Given the description of an element on the screen output the (x, y) to click on. 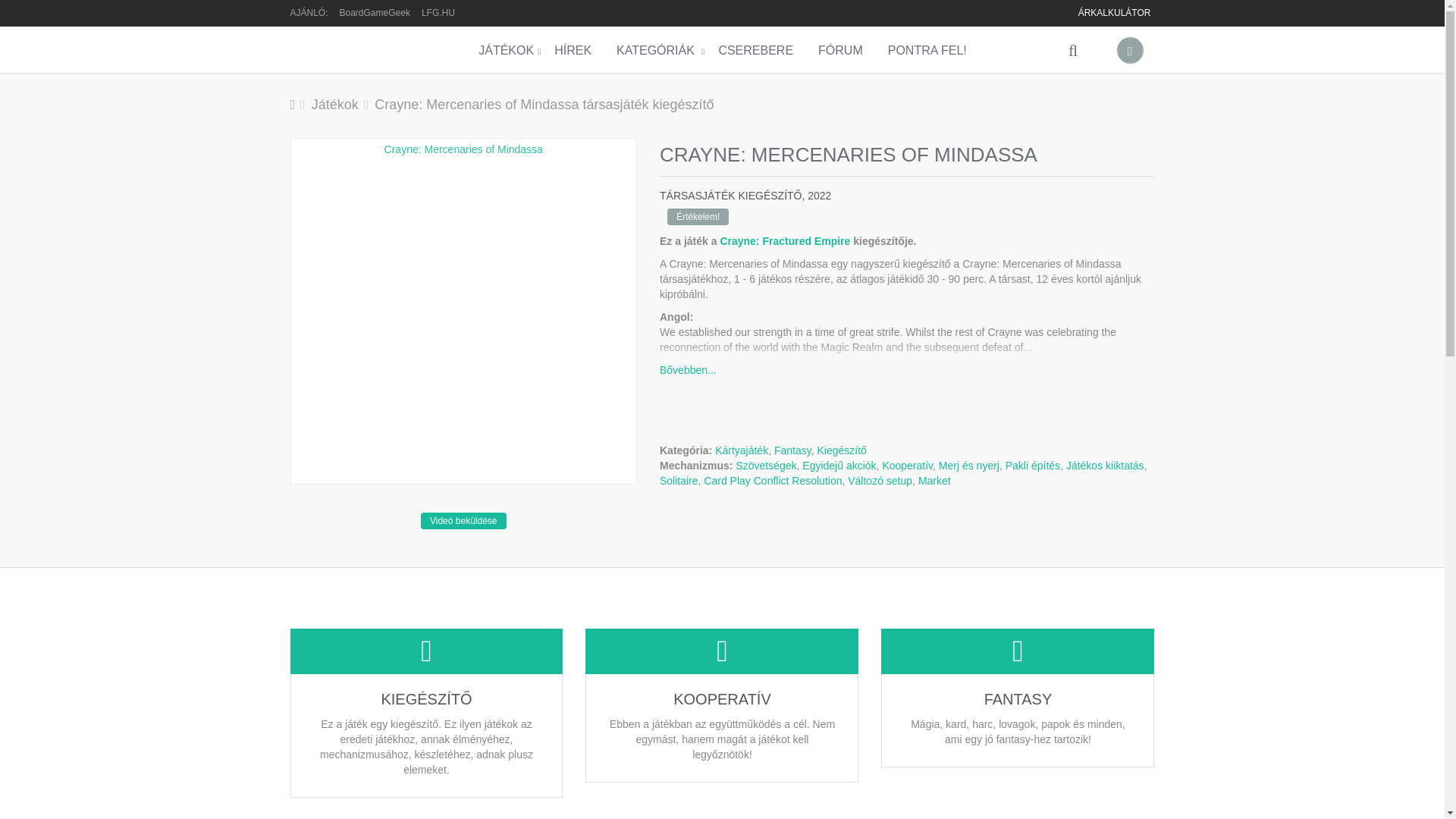
BoardGameGeek: Crayne: Mercenaries of Mindassa (374, 12)
Tarsasjatekok.com (341, 49)
LFG.HU (438, 12)
BoardGameGeek (374, 12)
